Given the description of an element on the screen output the (x, y) to click on. 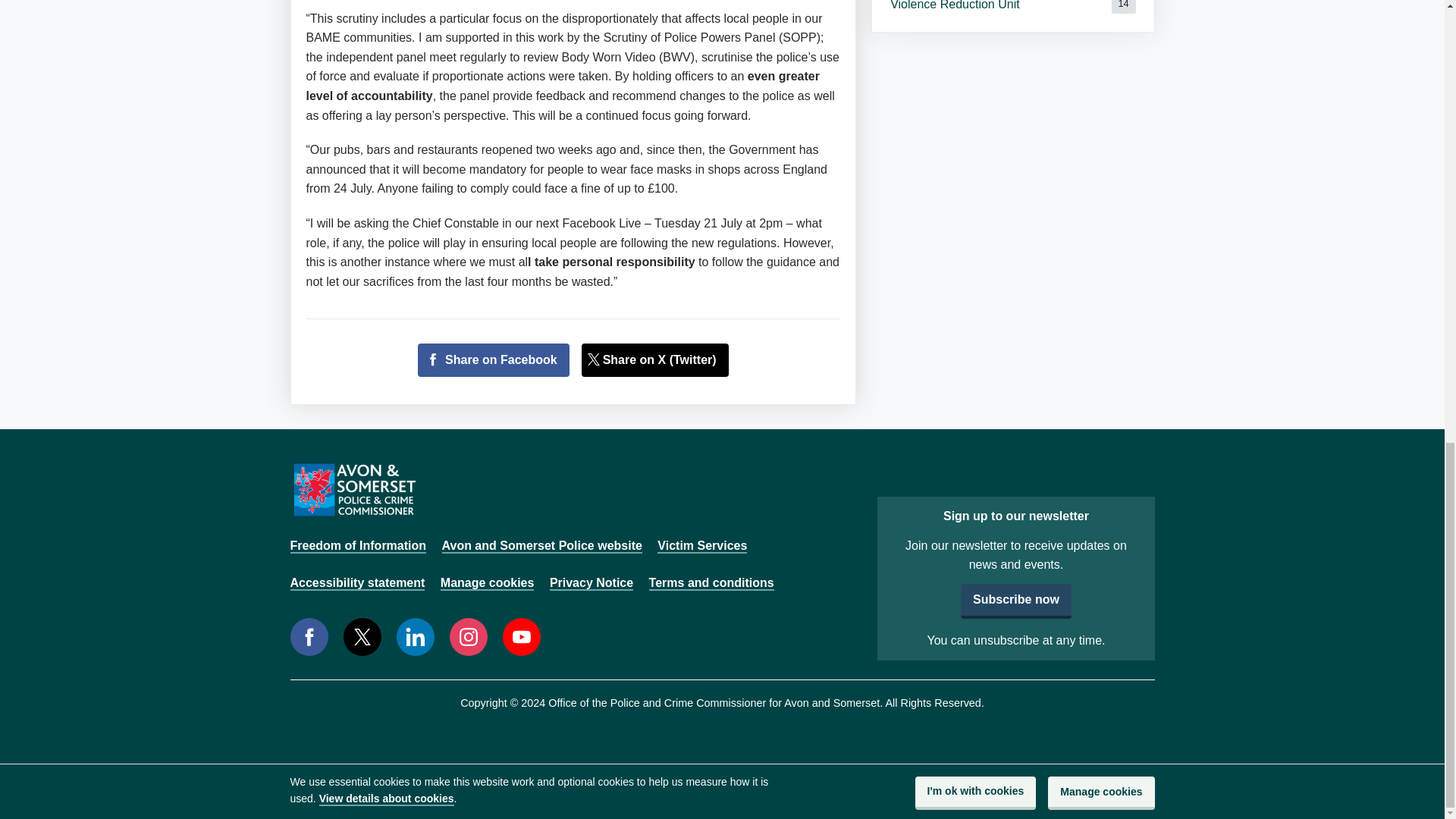
Freedom of Information (357, 545)
Avon and Somerset Police website (542, 545)
Share on Facebook (493, 359)
